Given the description of an element on the screen output the (x, y) to click on. 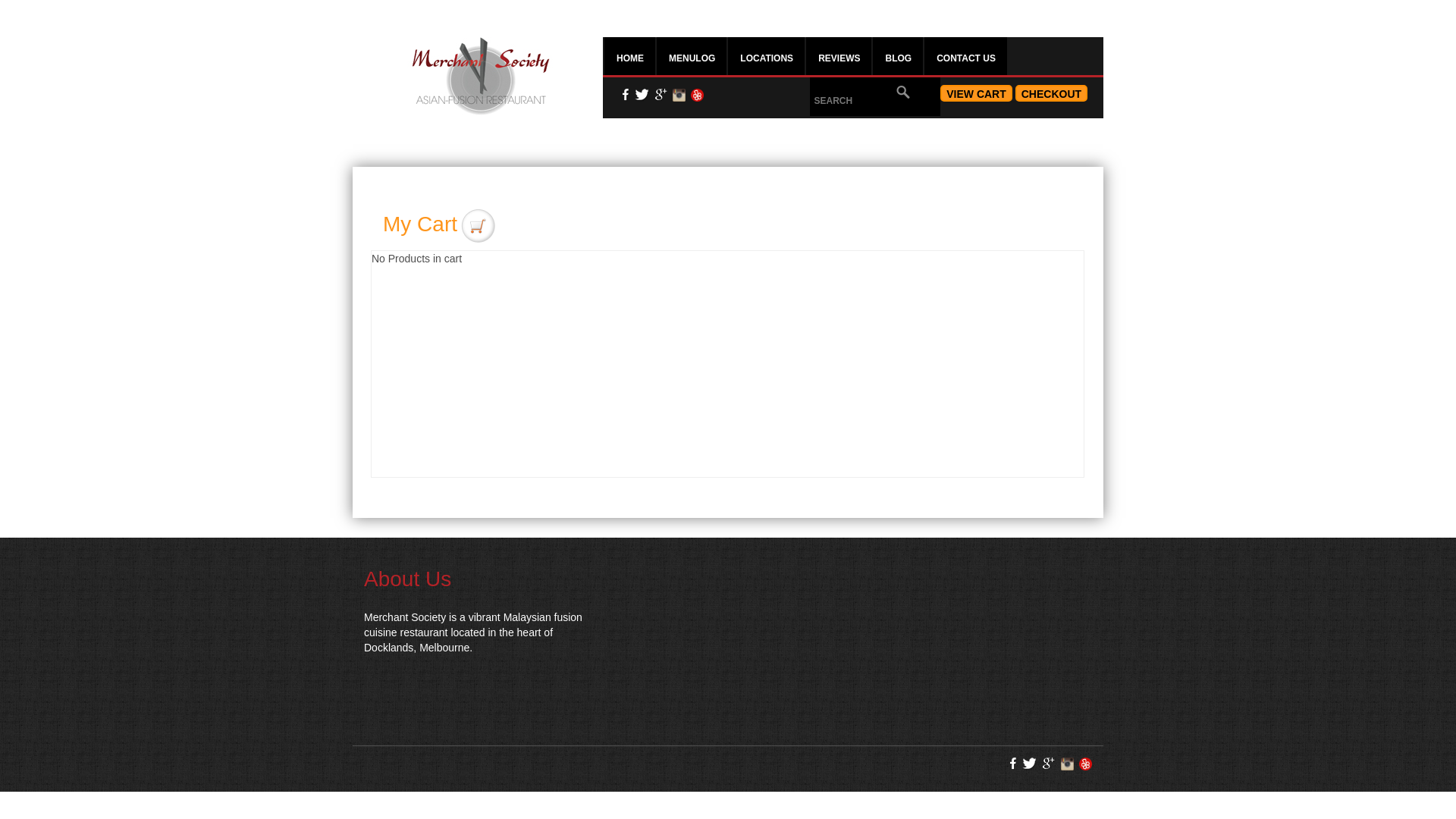
MENULOG Element type: text (691, 56)
BLOG Element type: text (897, 56)
VIEW CART Element type: text (976, 92)
LOCATIONS Element type: text (766, 56)
REVIEWS Element type: text (838, 56)
CHECKOUT Element type: text (1051, 92)
CONTACT US Element type: text (965, 56)
HOME Element type: text (629, 56)
